Given the description of an element on the screen output the (x, y) to click on. 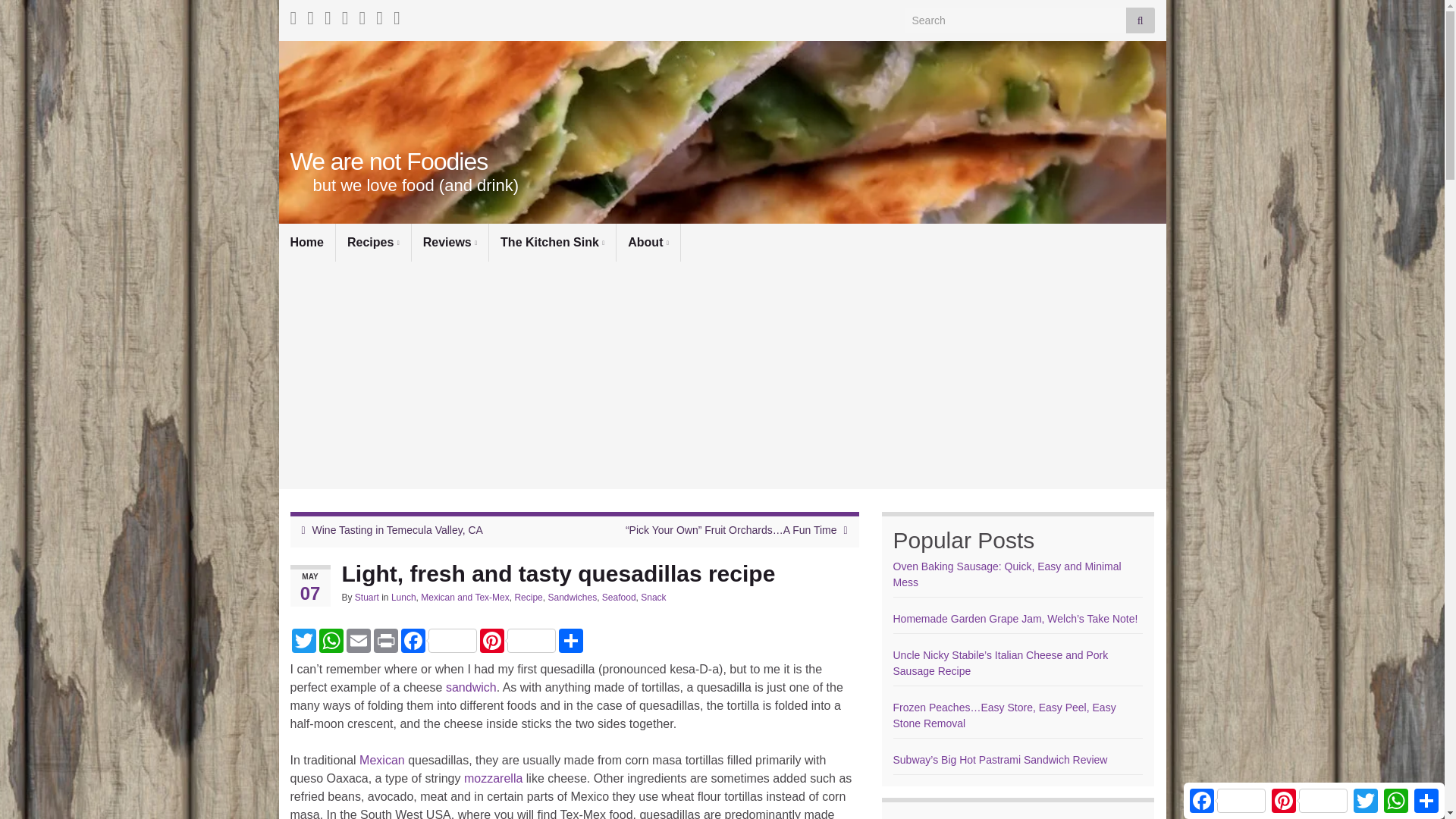
Mexican (381, 759)
Reviews (449, 242)
The Kitchen Sink (552, 242)
Homemade Mozzarella is a dangerous thing (493, 778)
Home (306, 242)
Go back to the front page (388, 161)
Recipes (373, 242)
We are not Foodies (388, 161)
